Given the description of an element on the screen output the (x, y) to click on. 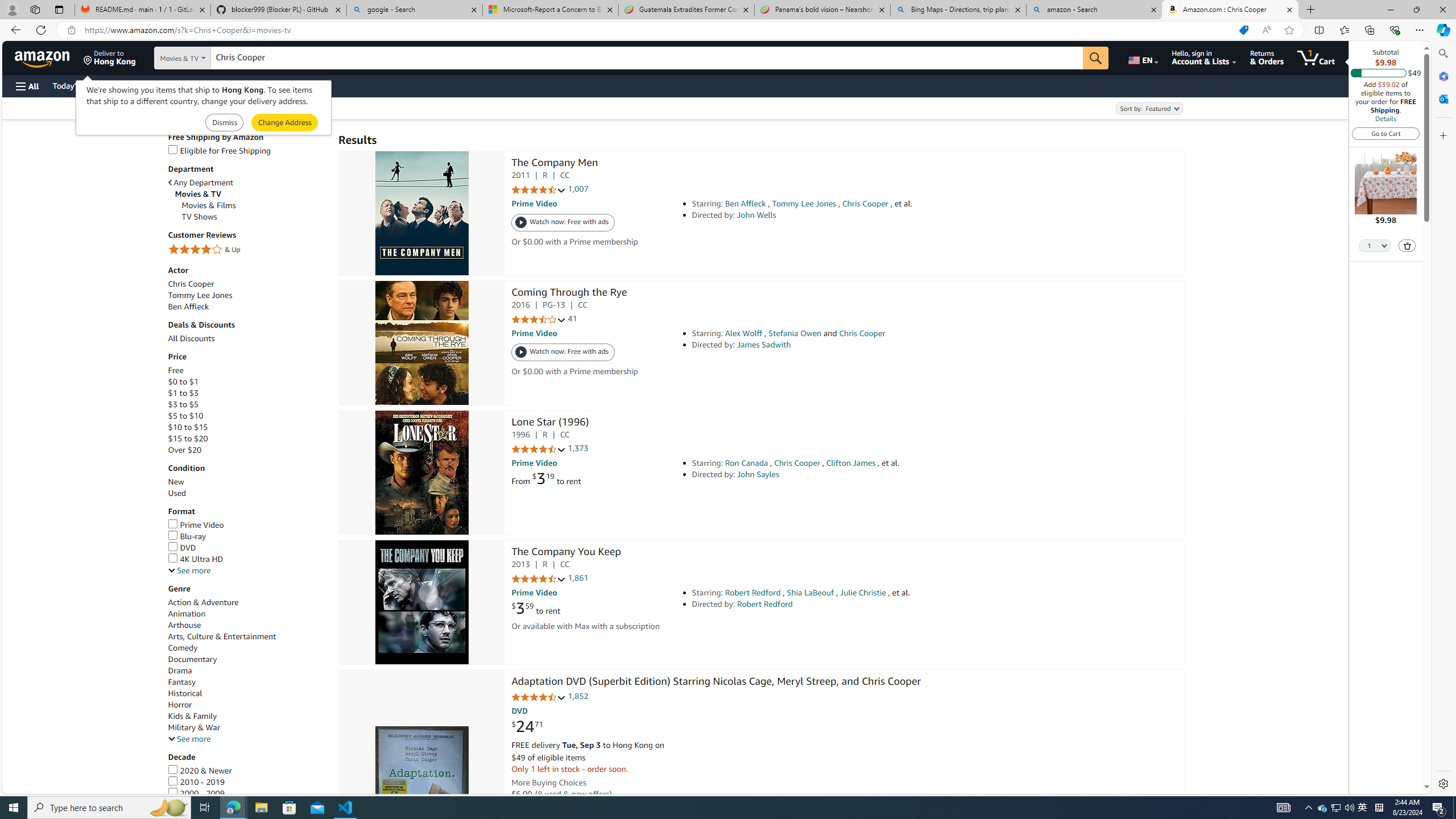
Chris Cooper (247, 284)
$24.71 (527, 726)
Tommy Lee Jones (199, 294)
DVD (181, 547)
All Discounts (191, 338)
Action & Adventure (247, 602)
$10 to $15 (247, 427)
Coming Through the Rye (569, 293)
All Discounts (247, 338)
2020 & Newer (199, 770)
Go to Cart (1385, 133)
